Given the description of an element on the screen output the (x, y) to click on. 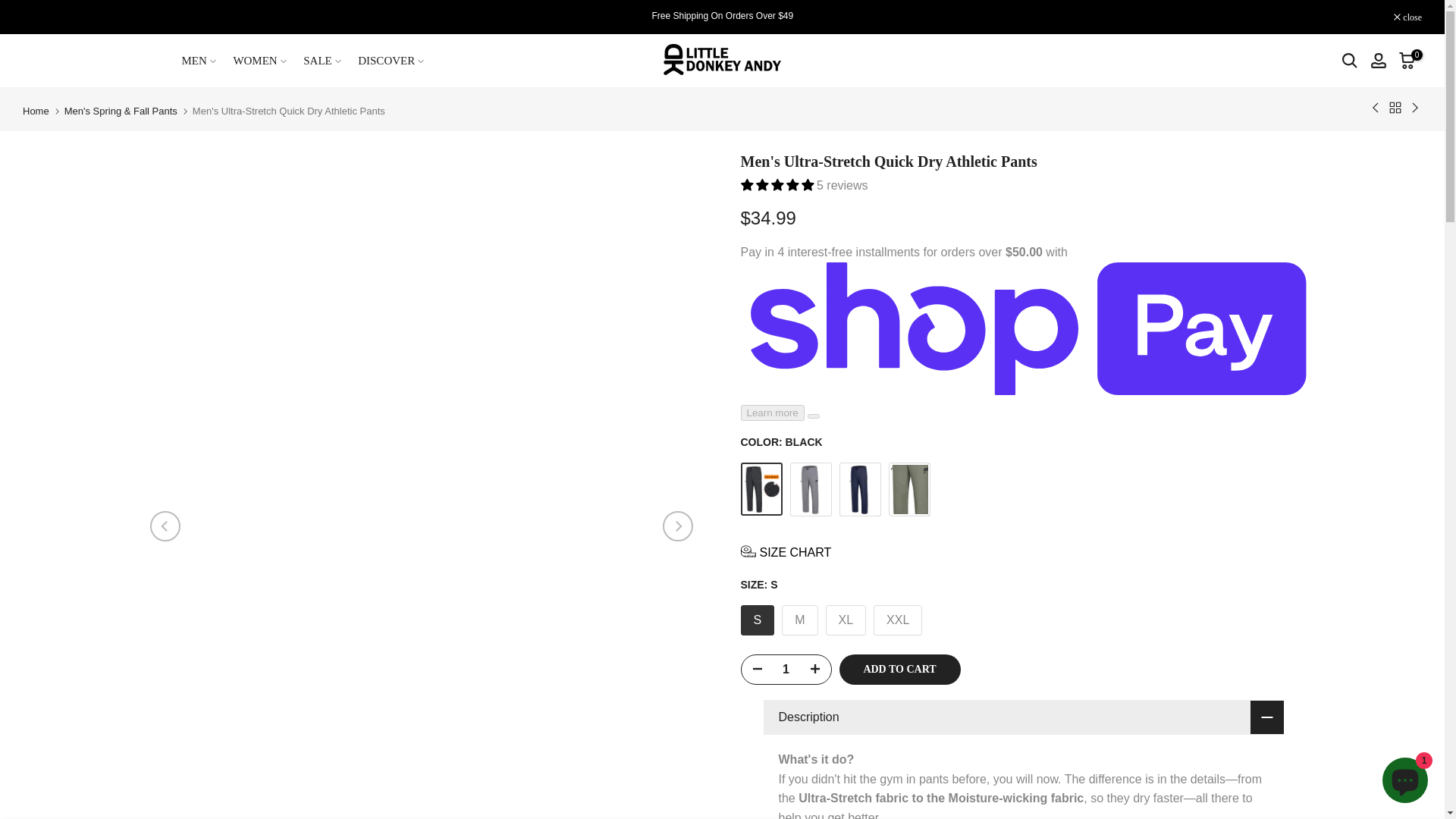
close (1407, 16)
WOMEN (263, 60)
MEN (203, 60)
Skip to content (10, 7)
1 (786, 669)
